Given the description of an element on the screen output the (x, y) to click on. 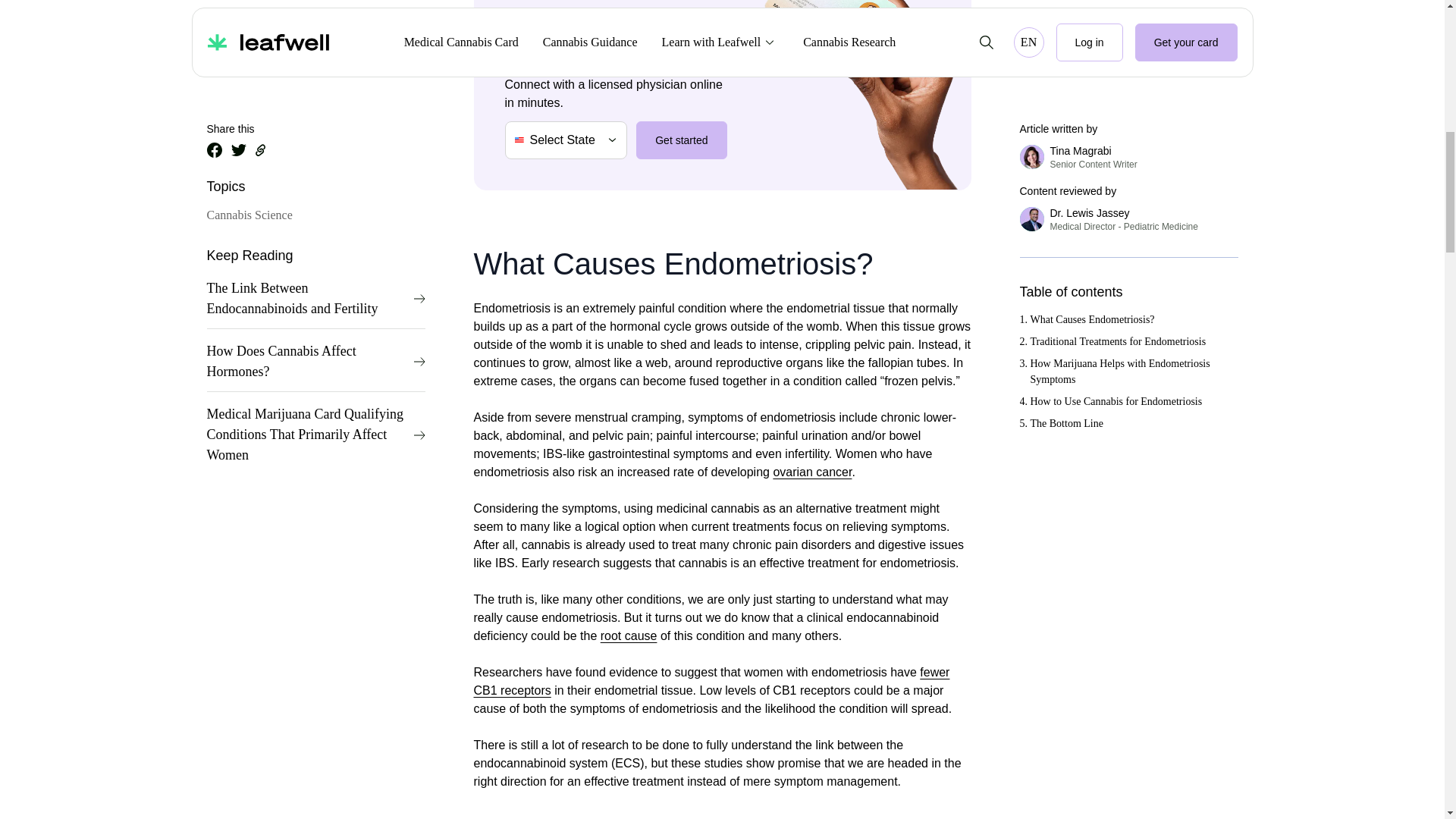
ovarian cancer (812, 472)
root cause (628, 635)
Select State (566, 139)
How to Use Cannabis for Endometriosis (1130, 16)
How Marijuana Helps with Endometriosis Symptoms (1130, 1)
The Bottom Line (1130, 37)
Get started (681, 139)
